Given the description of an element on the screen output the (x, y) to click on. 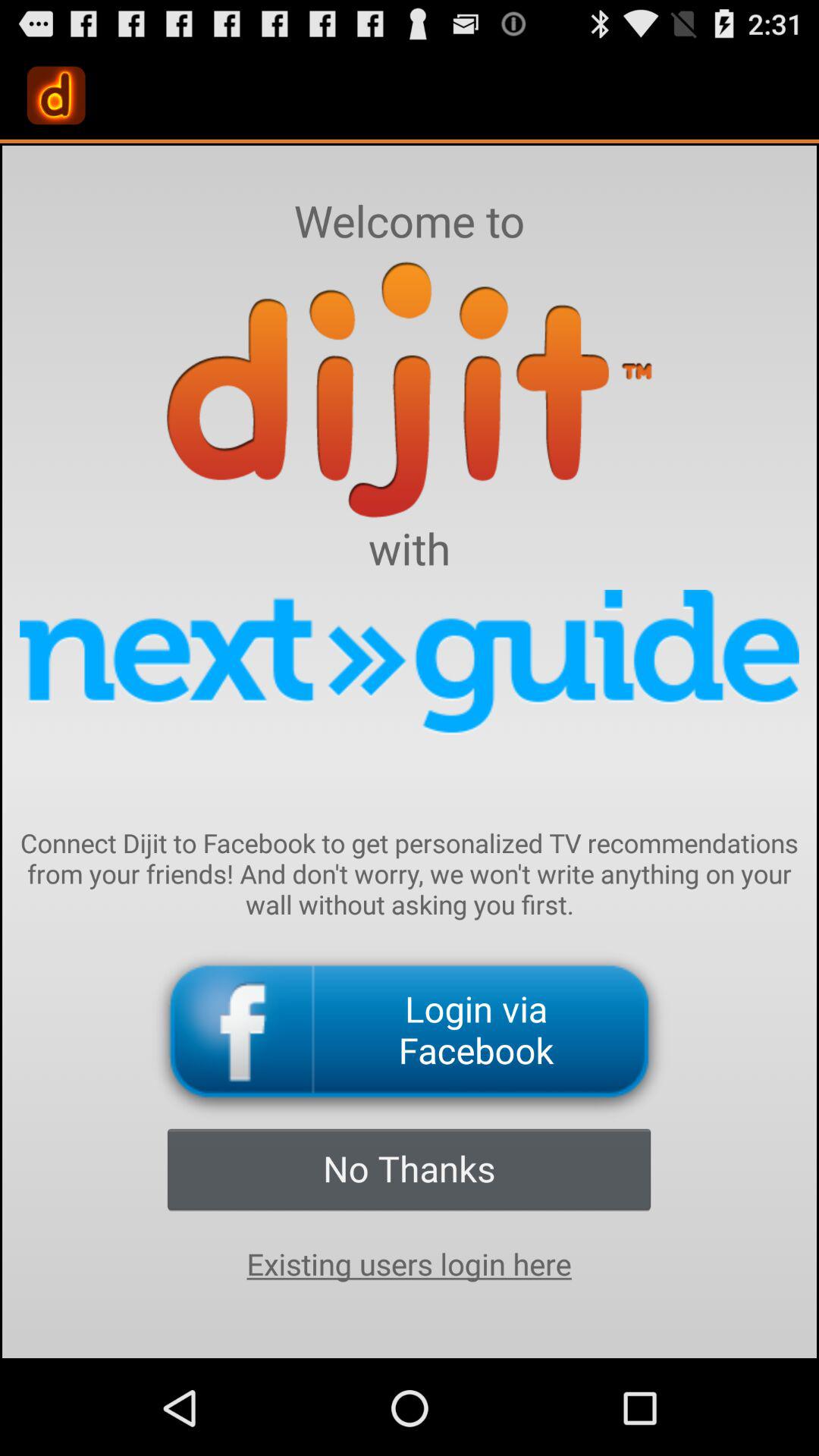
scroll until the existing users login icon (409, 1264)
